Given the description of an element on the screen output the (x, y) to click on. 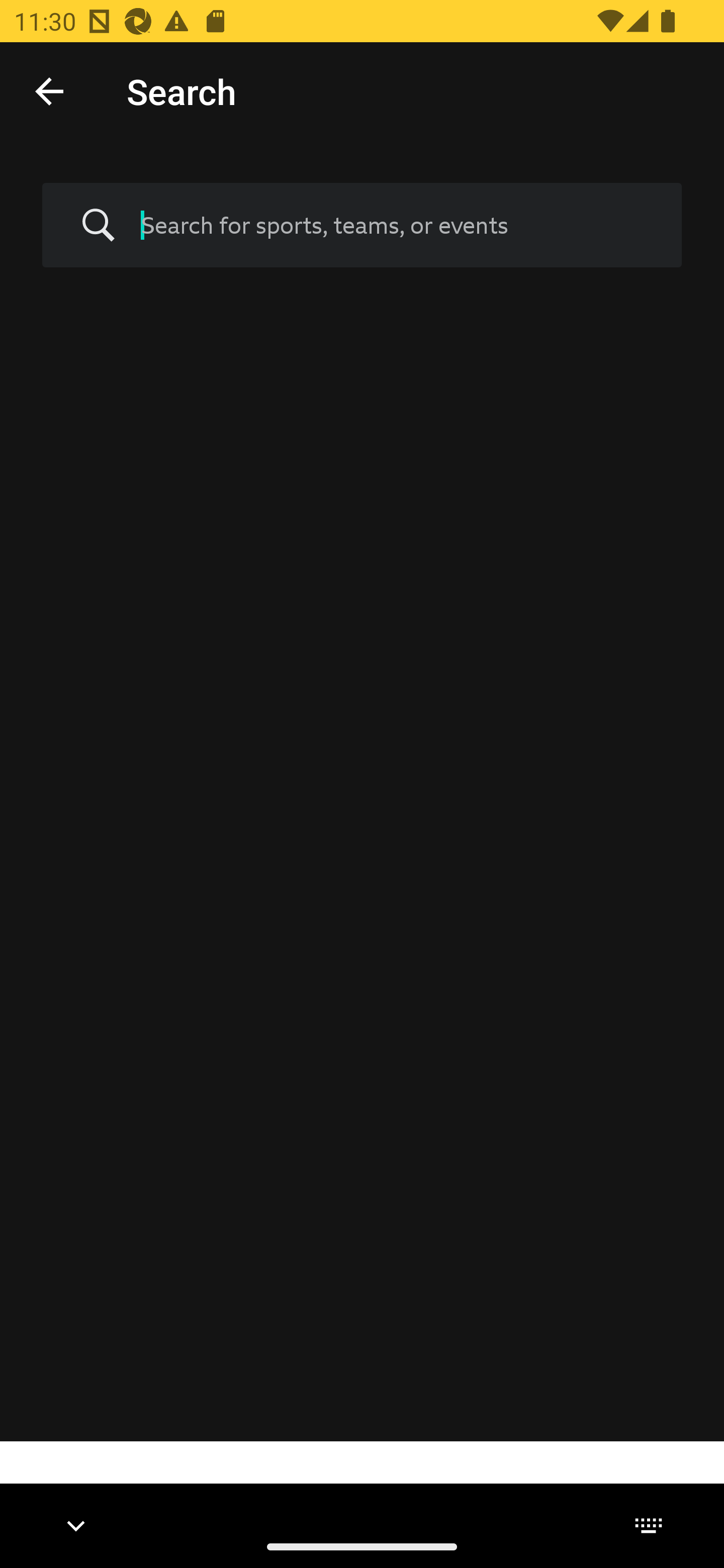
Done (49, 90)
Search for sports, teams, or events (361, 225)
Search for sports, teams, or events (396, 224)
